Given the description of an element on the screen output the (x, y) to click on. 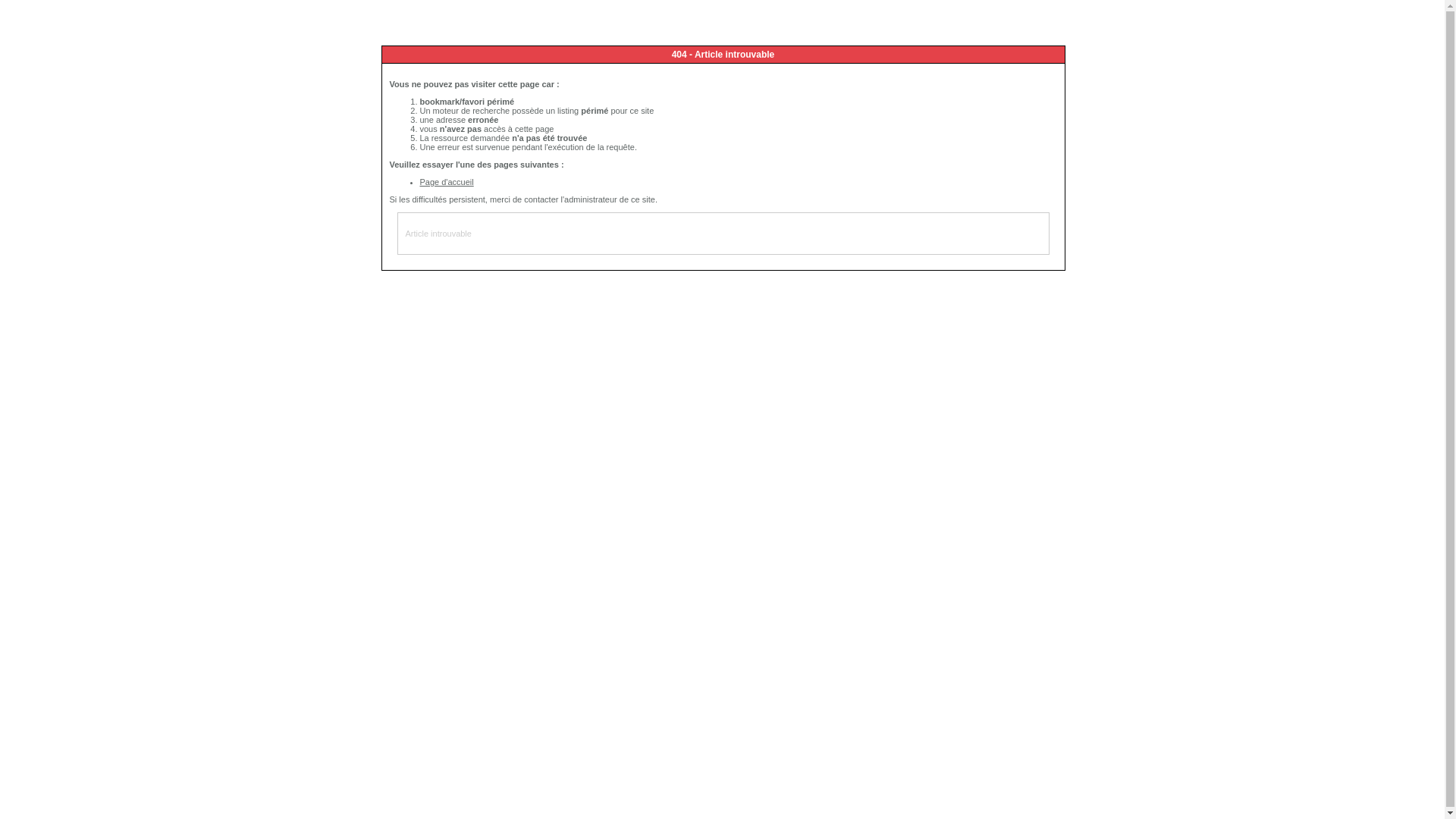
Page d'accueil Element type: text (446, 181)
